Given the description of an element on the screen output the (x, y) to click on. 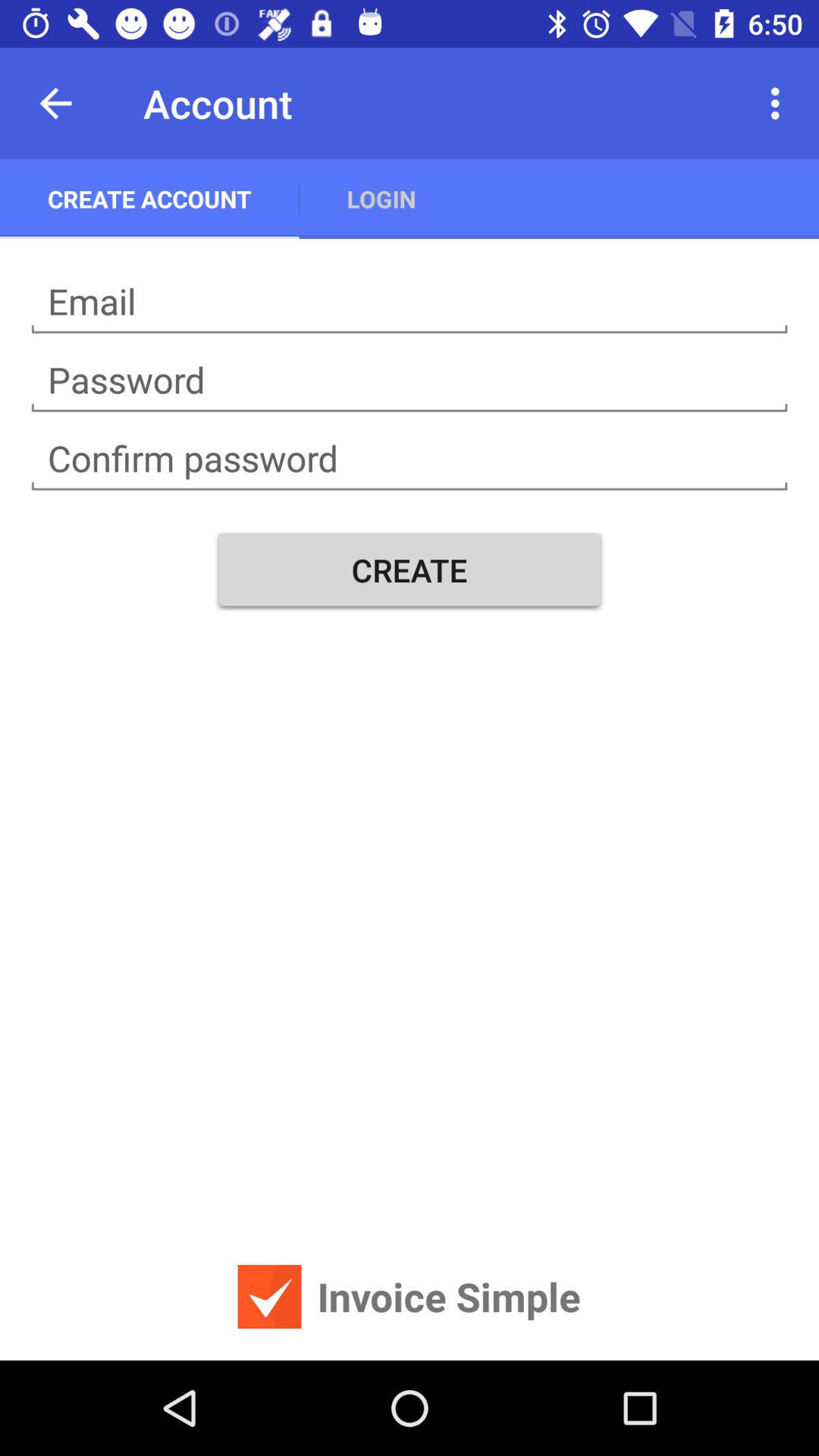
swipe until the create account app (149, 198)
